Given the description of an element on the screen output the (x, y) to click on. 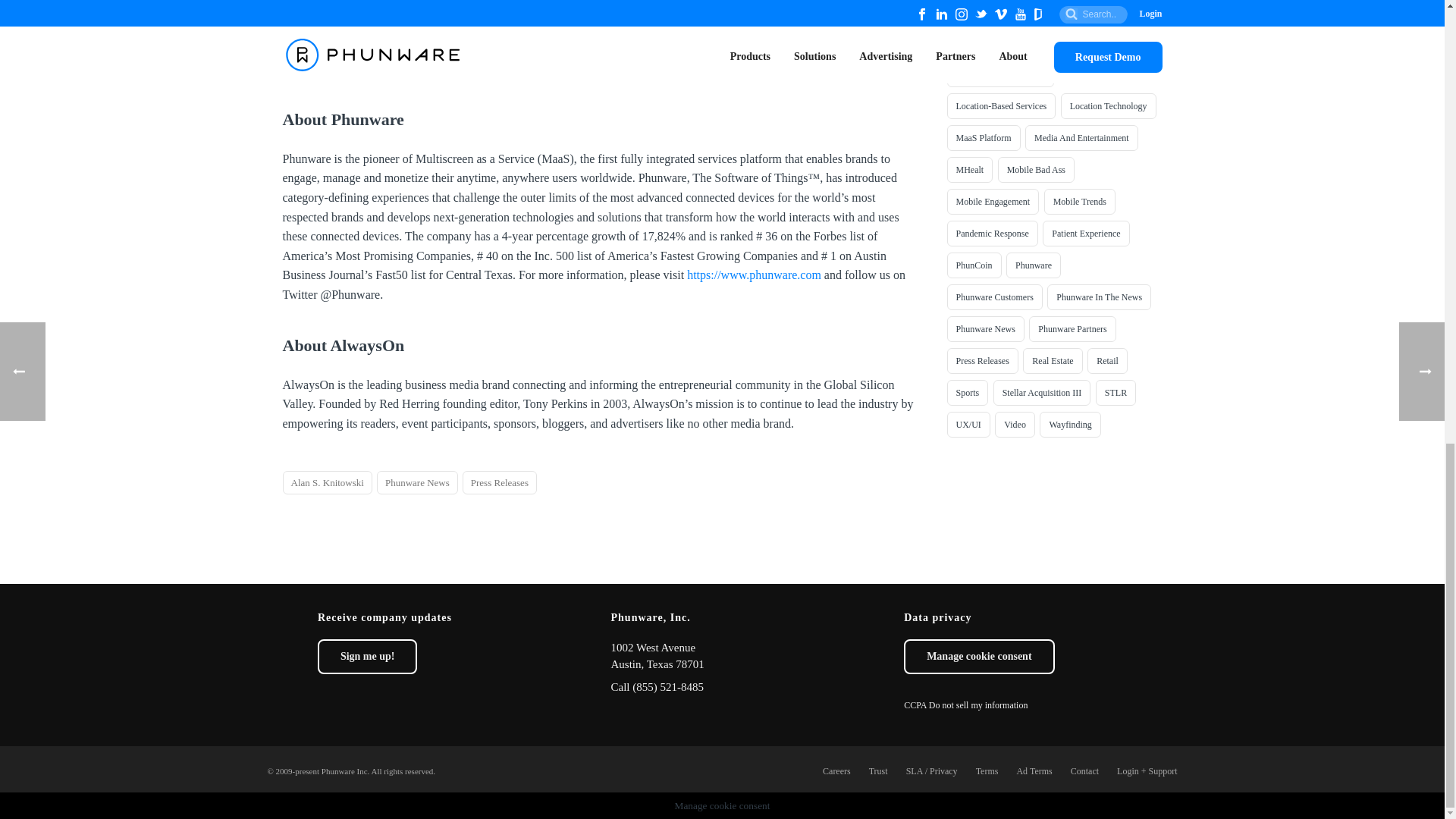
Sign me up! (367, 656)
